Given the description of an element on the screen output the (x, y) to click on. 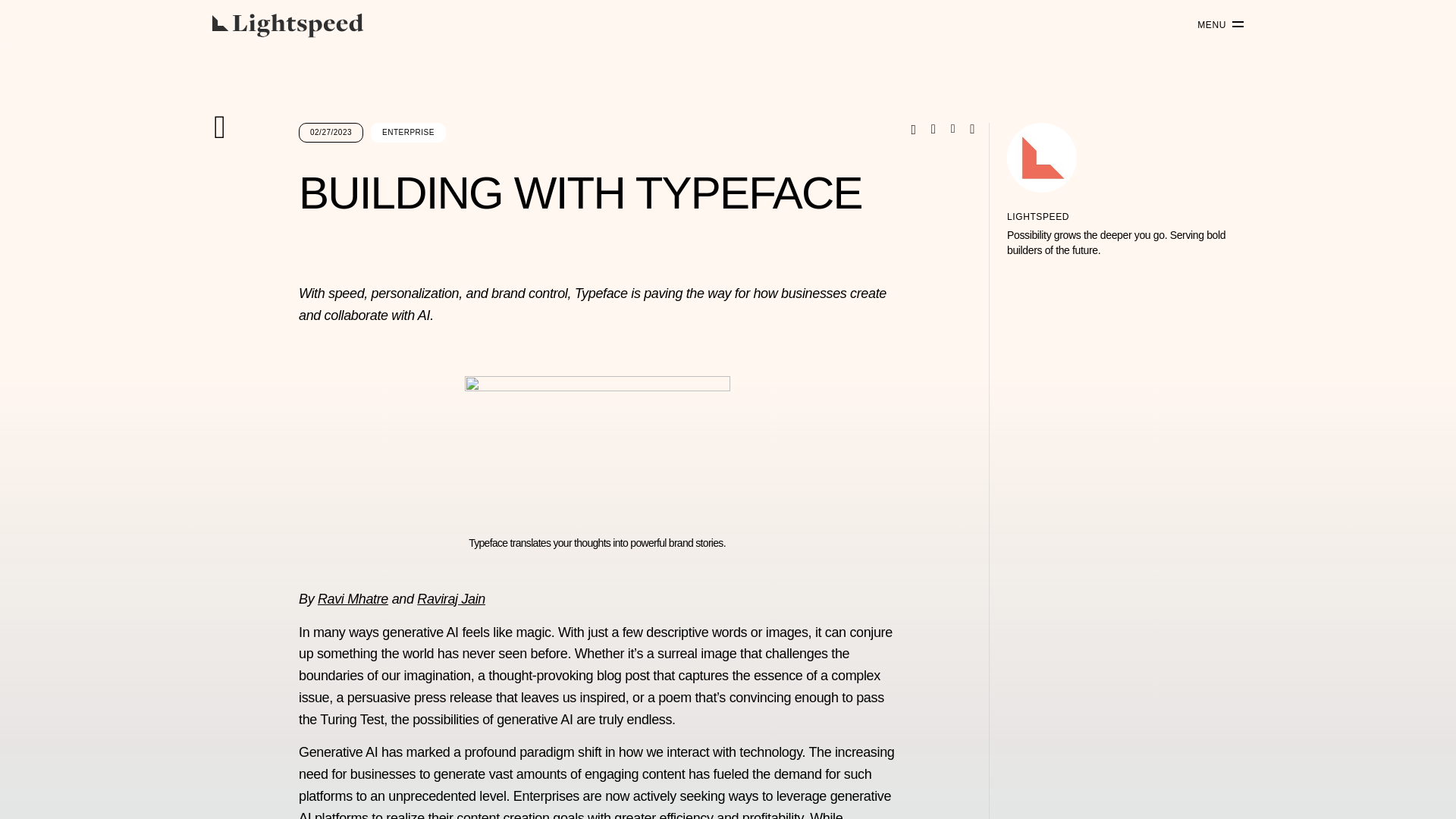
MENU (1214, 25)
Raviraj Jain (450, 598)
Ravi Mhatre (352, 598)
